Given the description of an element on the screen output the (x, y) to click on. 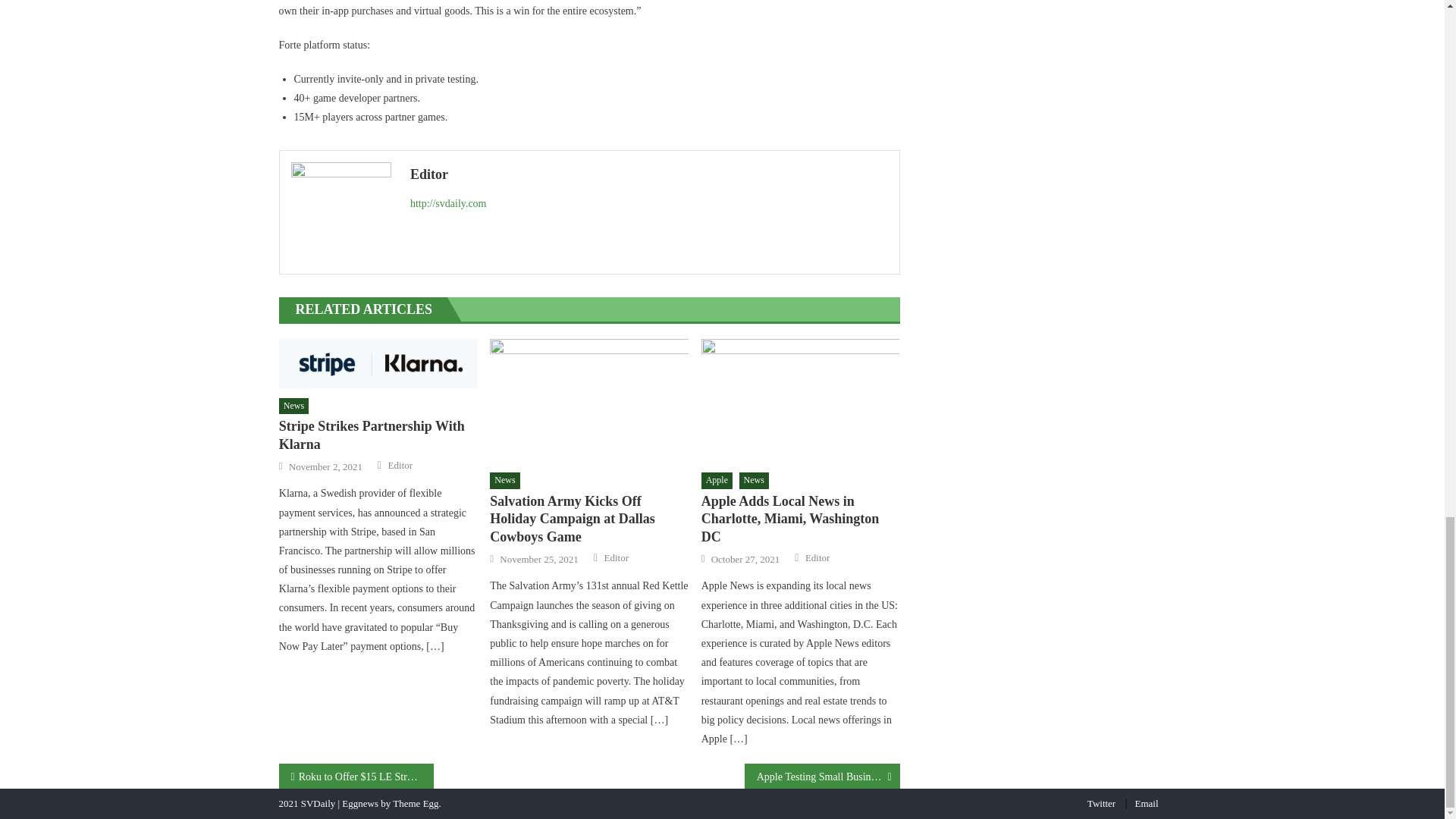
Stripe Strikes Partnership With Klarna (378, 435)
November 2, 2021 (325, 467)
Editor (649, 174)
Apple Adds Local News in Charlotte, Miami, Washington DC (800, 401)
Apple Testing Small Business Subscription Service (821, 775)
News (753, 480)
Editor (616, 558)
October 27, 2021 (745, 559)
News (293, 406)
News (504, 480)
Apple Adds Local News in Charlotte, Miami, Washington DC (800, 519)
Editor (817, 558)
Editor (400, 465)
